Given the description of an element on the screen output the (x, y) to click on. 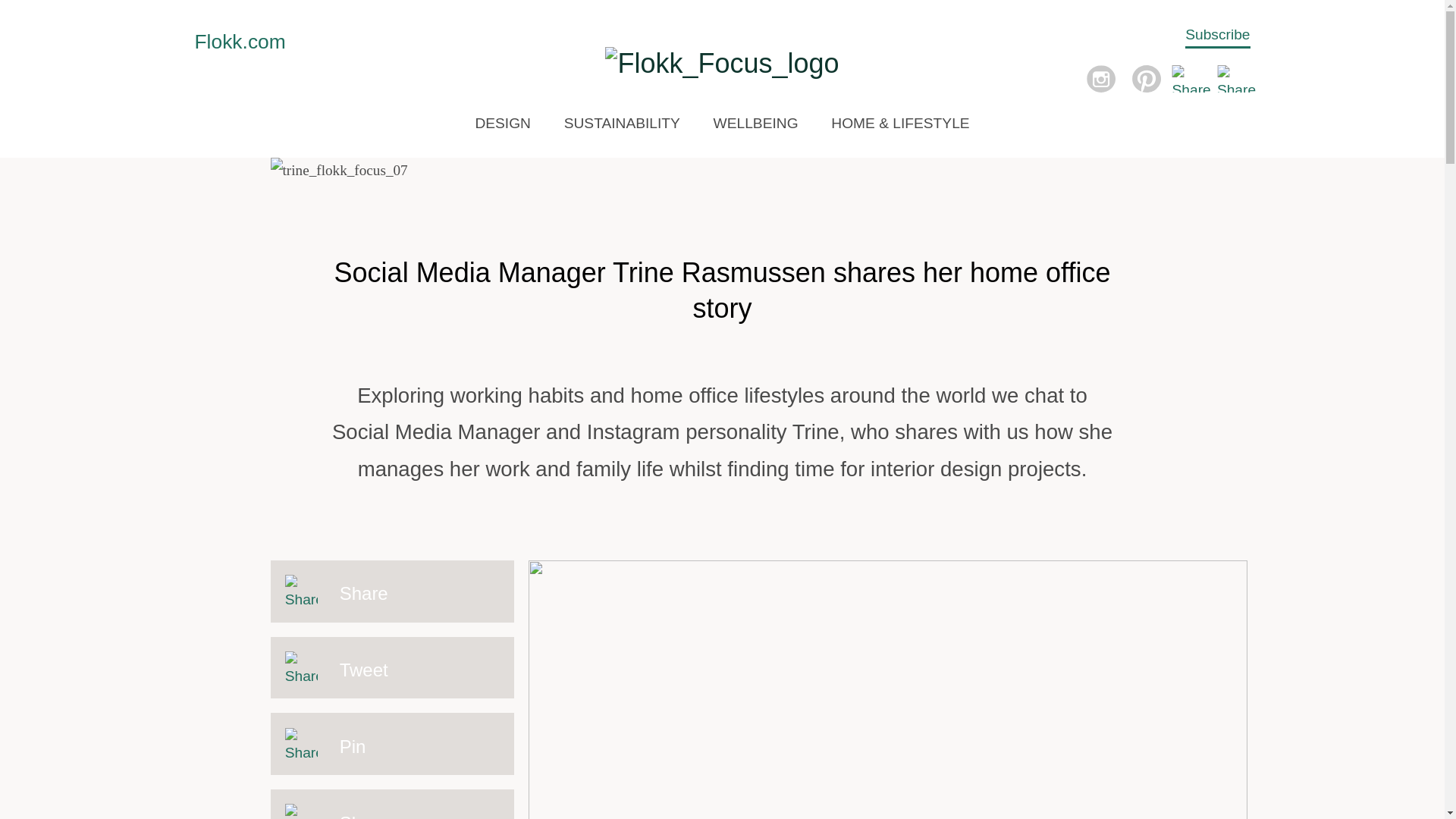
Tweet (391, 668)
DESIGN (502, 123)
Share (391, 804)
Pin (391, 743)
Subscribe (1217, 37)
SUSTAINABILITY (621, 123)
WELLBEING (755, 123)
Share (391, 591)
Flokk.com (239, 40)
